Given the description of an element on the screen output the (x, y) to click on. 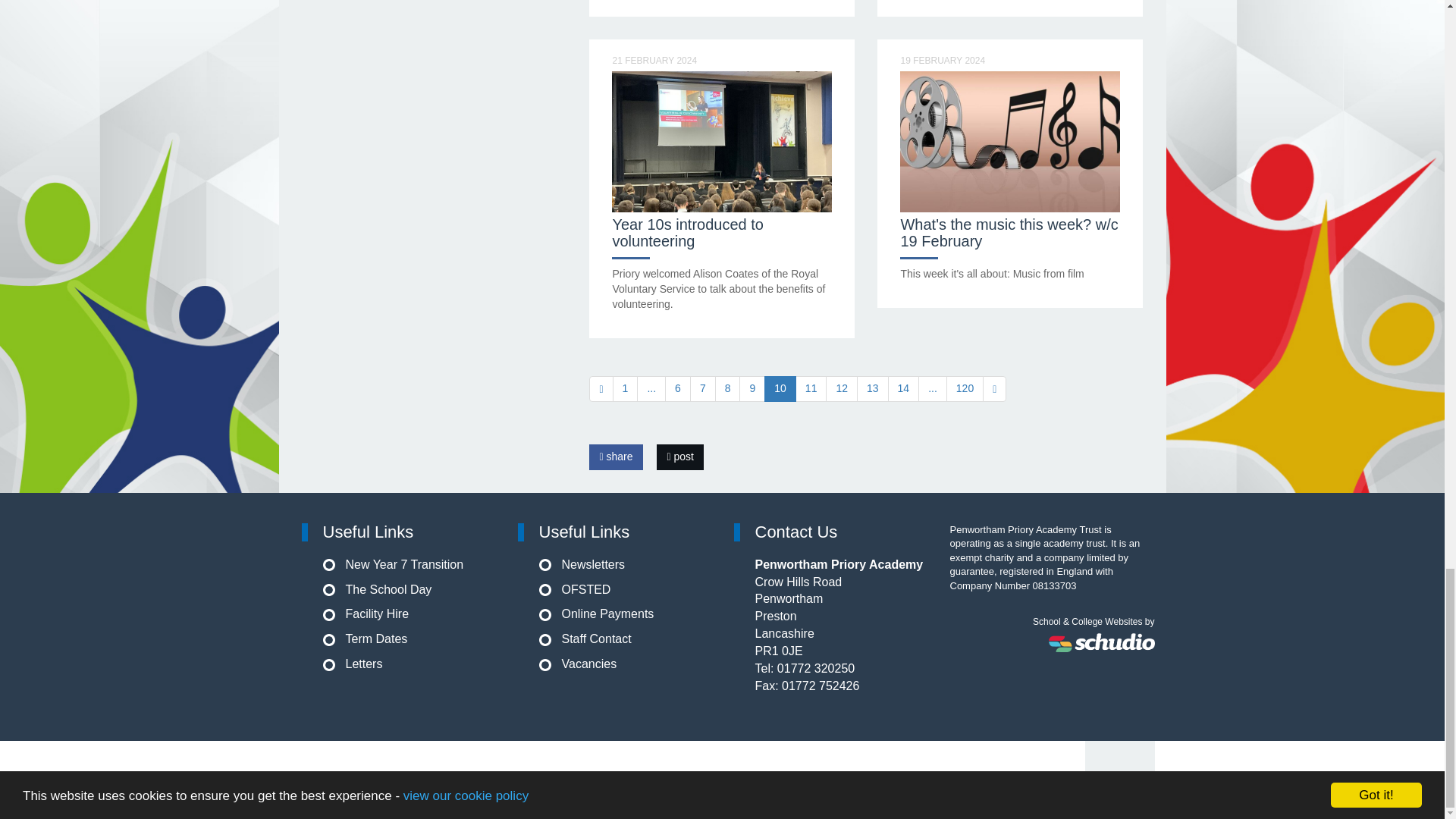
Share on Facebook (615, 457)
Post on X (679, 457)
